Given the description of an element on the screen output the (x, y) to click on. 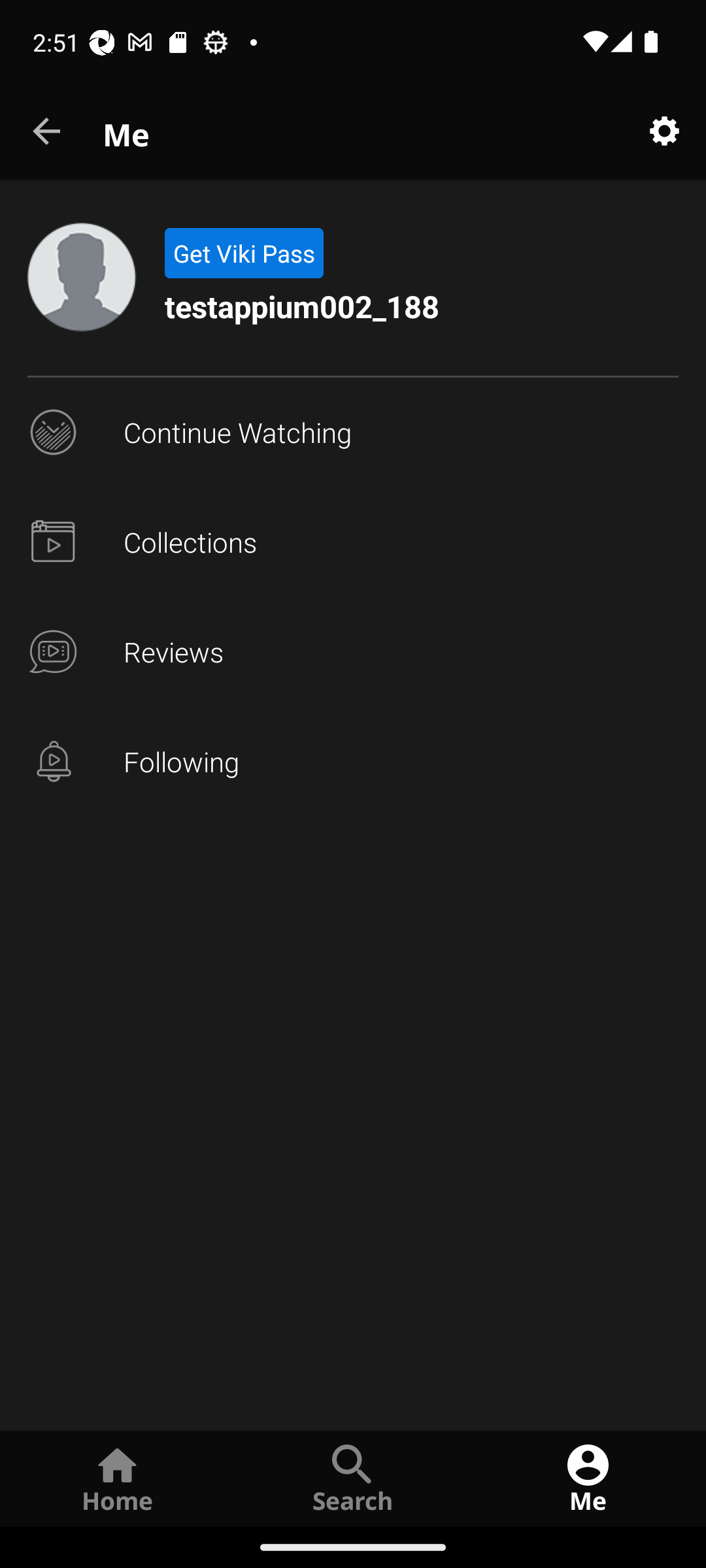
Navigate up (48, 131)
Settings (664, 131)
Get Viki Pass (243, 253)
Continue Watching (353, 432)
profile_page_user_collections Collections (353, 542)
Reviews (353, 652)
Following (353, 761)
Home (117, 1478)
Search (352, 1478)
